Given the description of an element on the screen output the (x, y) to click on. 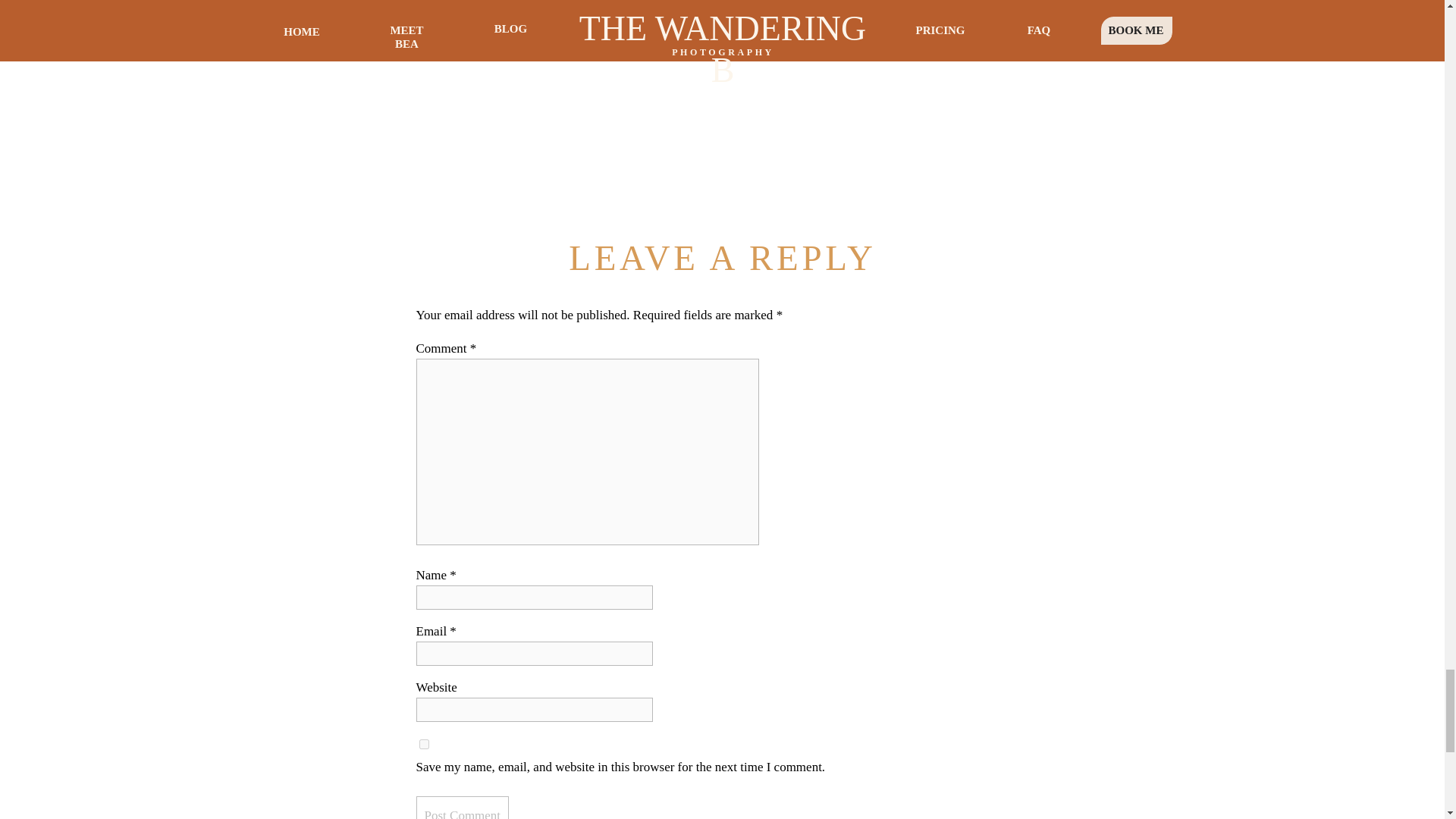
yes (423, 744)
Post Comment (461, 807)
Post Comment (461, 807)
